Given the description of an element on the screen output the (x, y) to click on. 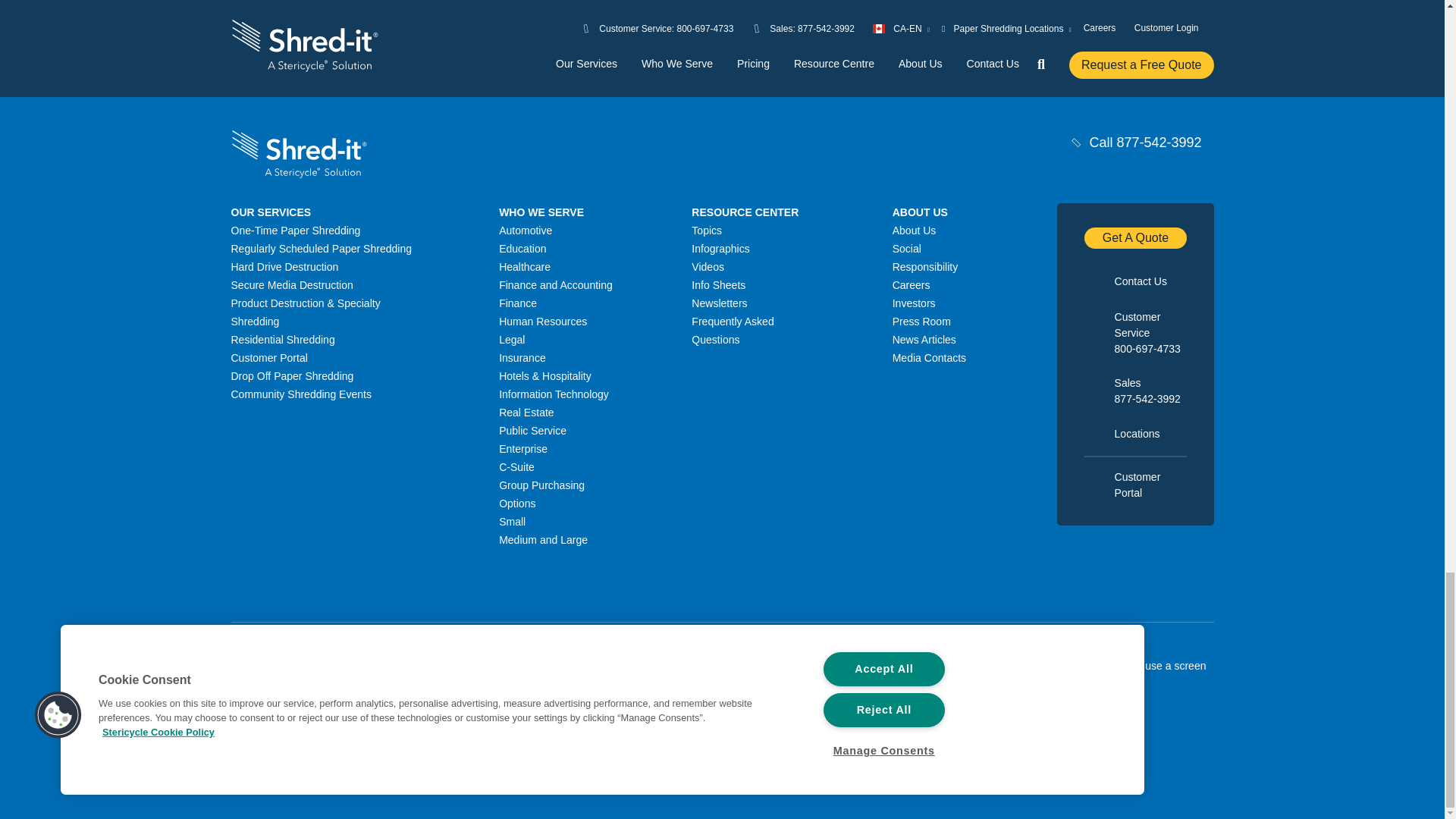
Please enter a valid email address. (844, 15)
